Given the description of an element on the screen output the (x, y) to click on. 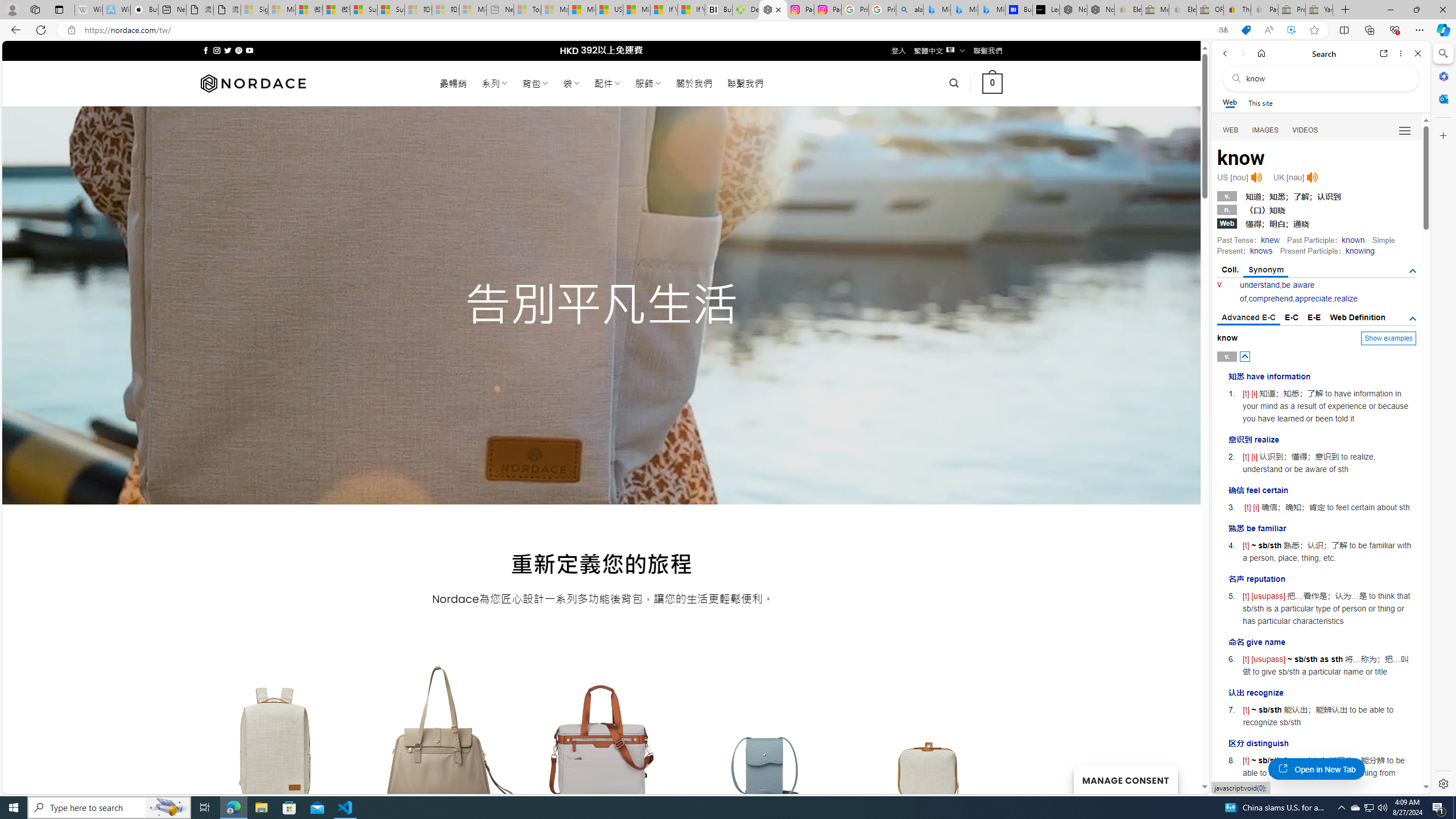
Threats and offensive language policy | eBay (1236, 9)
Descarga Driver Updater (746, 9)
Follow on Instagram (216, 50)
AutomationID: posbtn_0 (1245, 356)
